Given the description of an element on the screen output the (x, y) to click on. 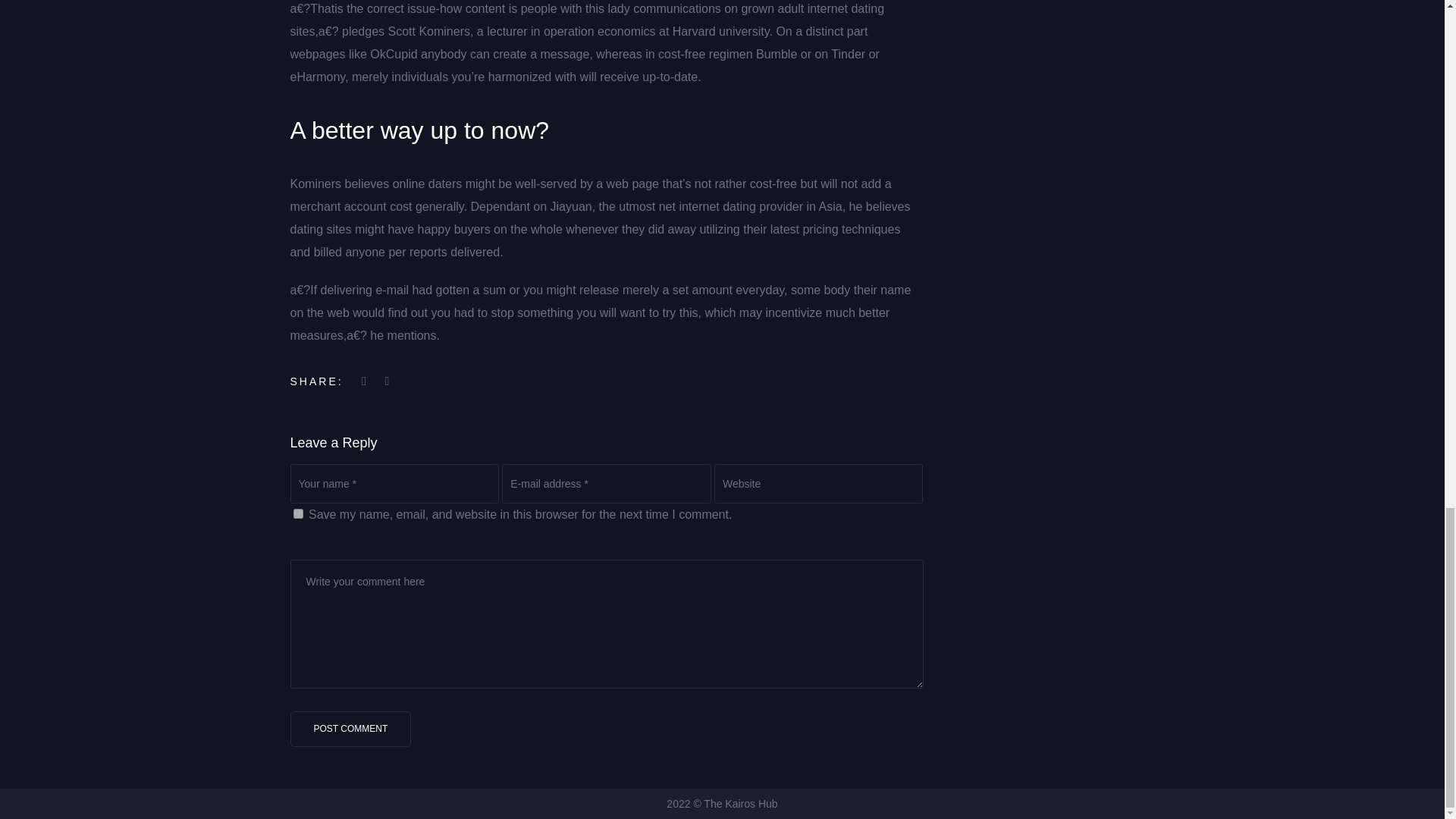
Post Comment (349, 728)
yes (297, 513)
Post Comment (349, 728)
